Given the description of an element on the screen output the (x, y) to click on. 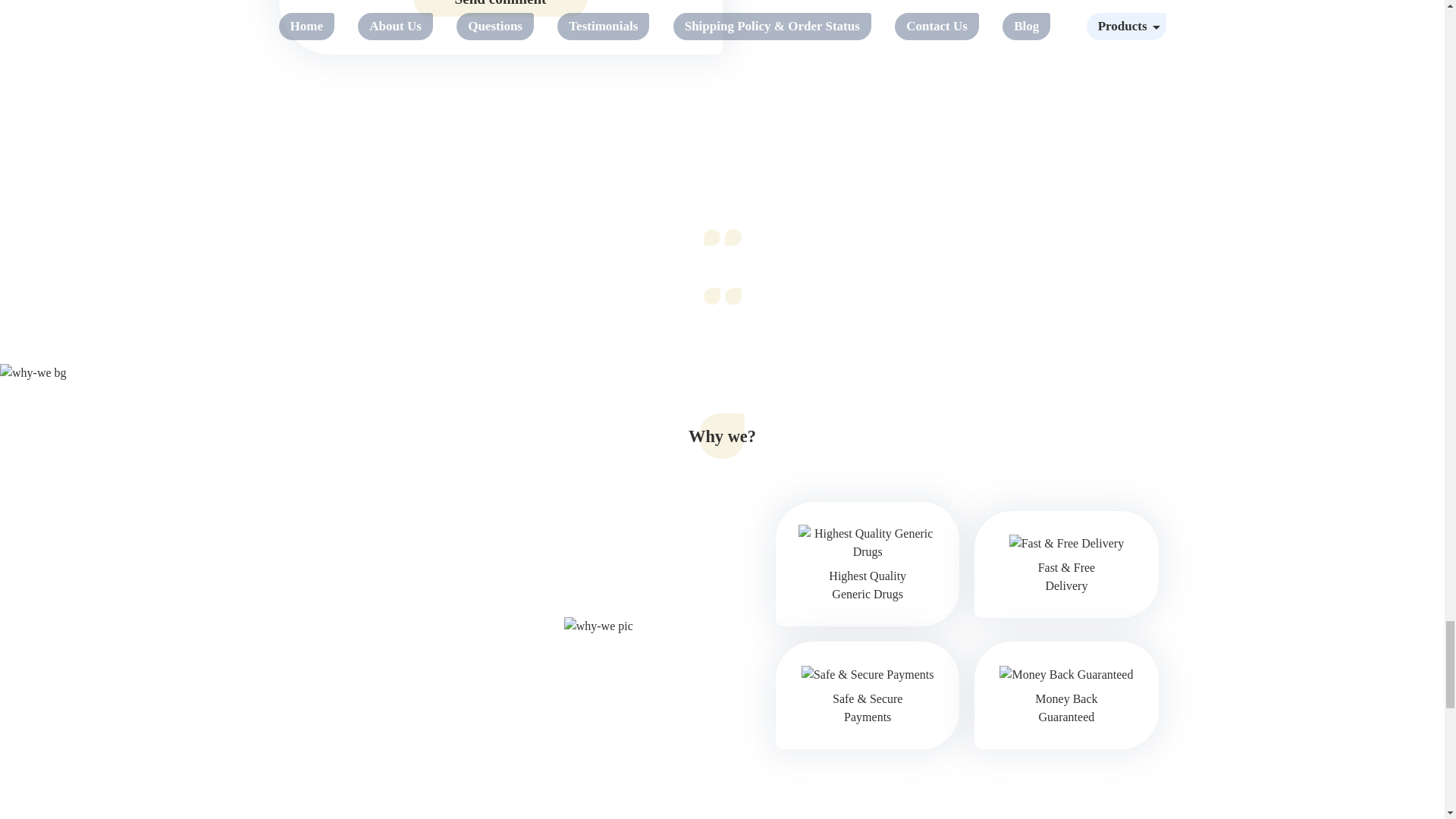
Send comment (500, 8)
